Given the description of an element on the screen output the (x, y) to click on. 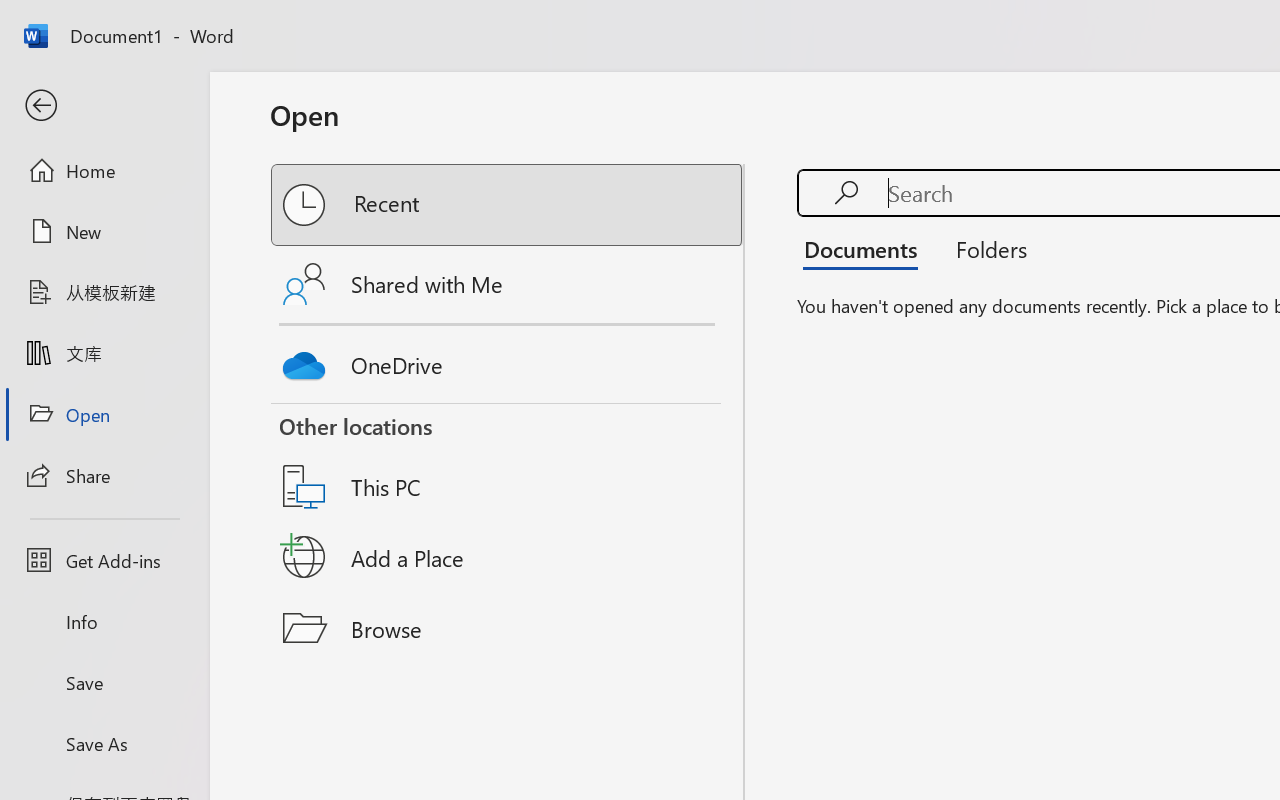
Info (104, 621)
This PC (507, 461)
OneDrive (507, 359)
Back (104, 106)
Browse (507, 627)
